Given the description of an element on the screen output the (x, y) to click on. 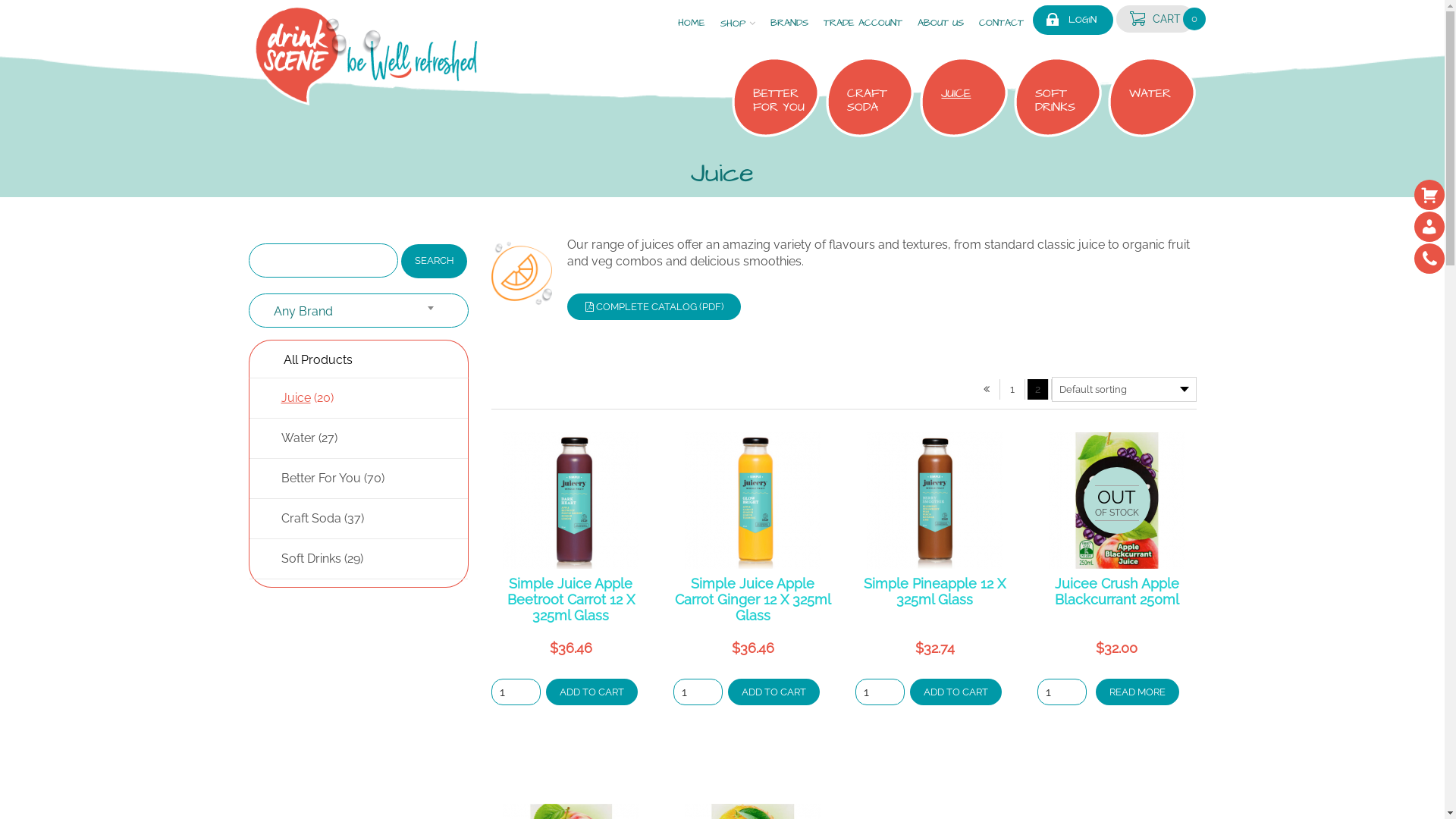
TRADE ACCOUNT Element type: text (862, 21)
Water Element type: text (297, 438)
Juice Element type: text (295, 397)
Simple Juice Apple Beetroot Carrot 12 X 325ml Glass Element type: text (569, 599)
Simple Pineapple 12 X 325ml Glass Element type: text (934, 591)
LOGIN Element type: text (1082, 19)
BETTER FOR YOU Element type: text (779, 99)
ADD TO CART Element type: text (591, 691)
SOFT DRINKS Element type: text (1061, 99)
WATER Element type: text (1155, 92)
ADD TO CART Element type: text (773, 691)
READ MORE Element type: text (1137, 691)
JUICE Element type: text (967, 92)
Soft Drinks Element type: text (310, 557)
SEARCH Element type: text (434, 261)
SHOP Element type: text (737, 21)
BRANDS Element type: text (788, 21)
Craft Soda Element type: text (310, 518)
CONTACT Element type: text (1001, 21)
Juicee Crush Apple Blackcurrant 250ml Element type: text (1116, 591)
COMPLETE CATALOG (PDF) Element type: text (653, 306)
HOME Element type: text (691, 21)
All Products Element type: text (317, 358)
1 Element type: text (1012, 389)
Better For You Element type: text (320, 477)
OUT
OF STOCK Element type: text (1116, 500)
ABOUT US Element type: text (940, 21)
ADD TO CART Element type: text (955, 691)
Simple Juice Apple Carrot Ginger 12 X 325ml Glass Element type: text (752, 599)
CRAFT SODA Element type: text (873, 99)
